Given the description of an element on the screen output the (x, y) to click on. 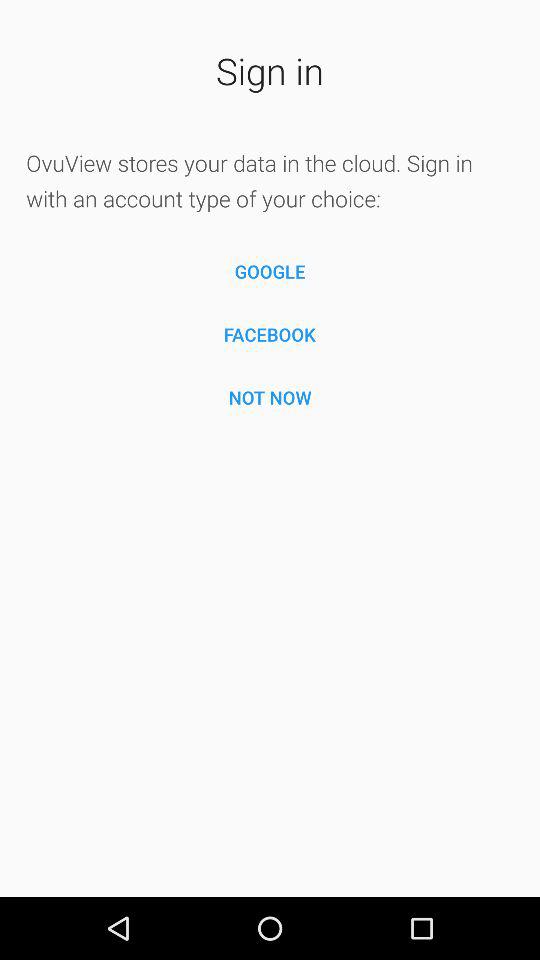
select the google (269, 271)
